Given the description of an element on the screen output the (x, y) to click on. 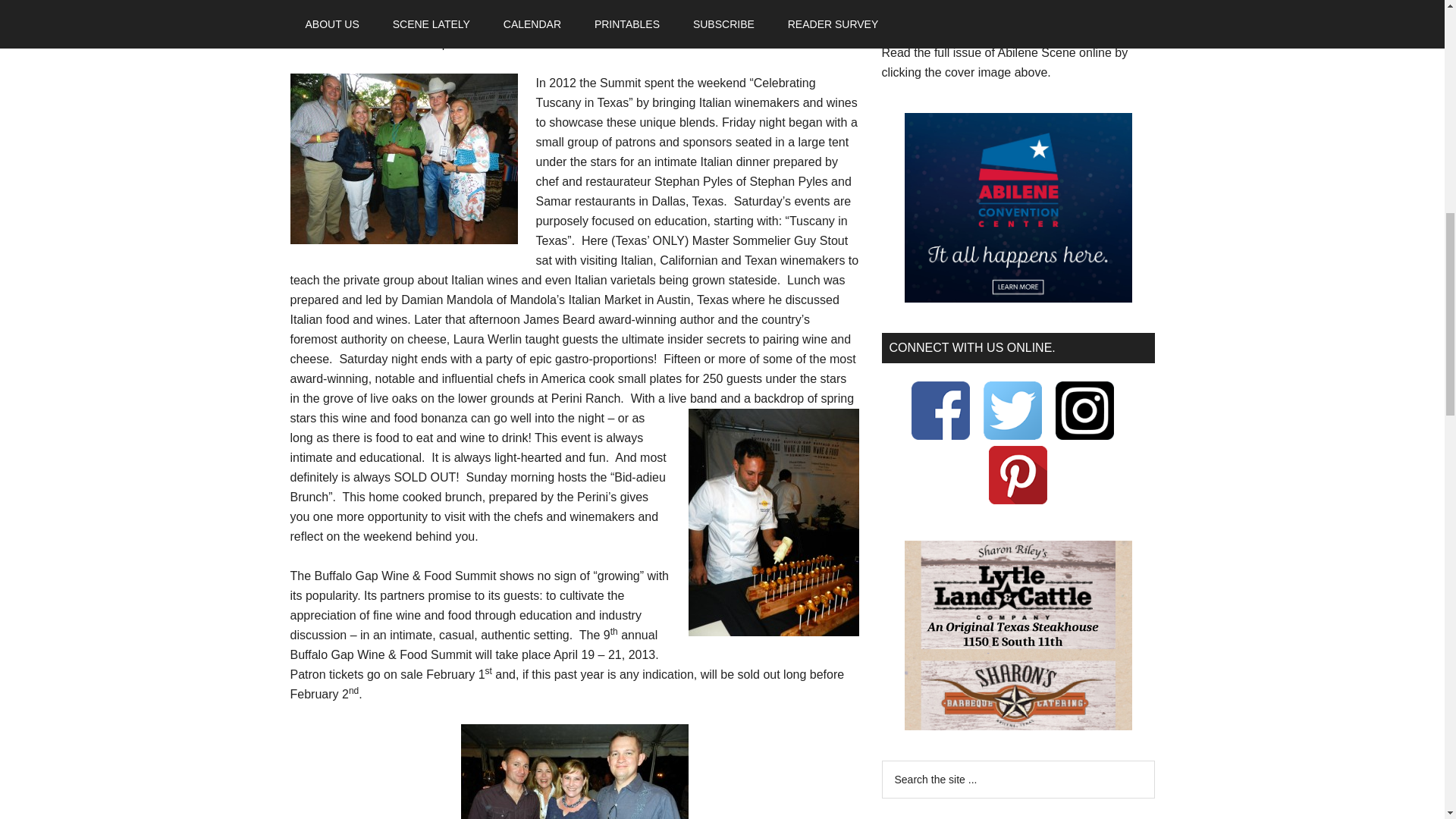
DSCN3122 (402, 158)
DSCN3300 (574, 771)
